Given the description of an element on the screen output the (x, y) to click on. 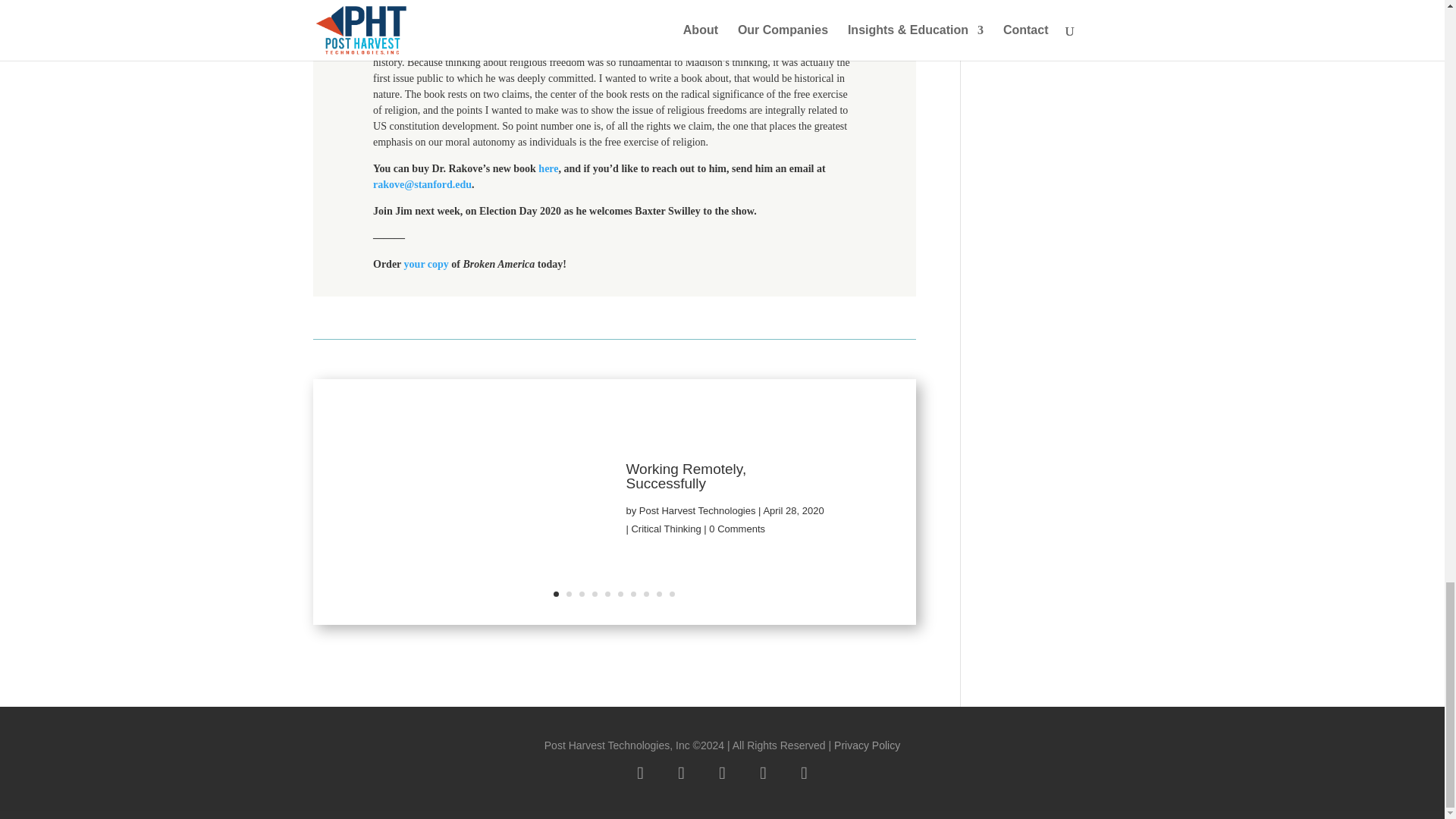
Working Remotely, Successfully (685, 476)
Post Harvest Technologies (697, 511)
your copy (426, 264)
Critical Thinking (665, 528)
Posts by Post Harvest Technologies (697, 510)
here (547, 168)
